Given the description of an element on the screen output the (x, y) to click on. 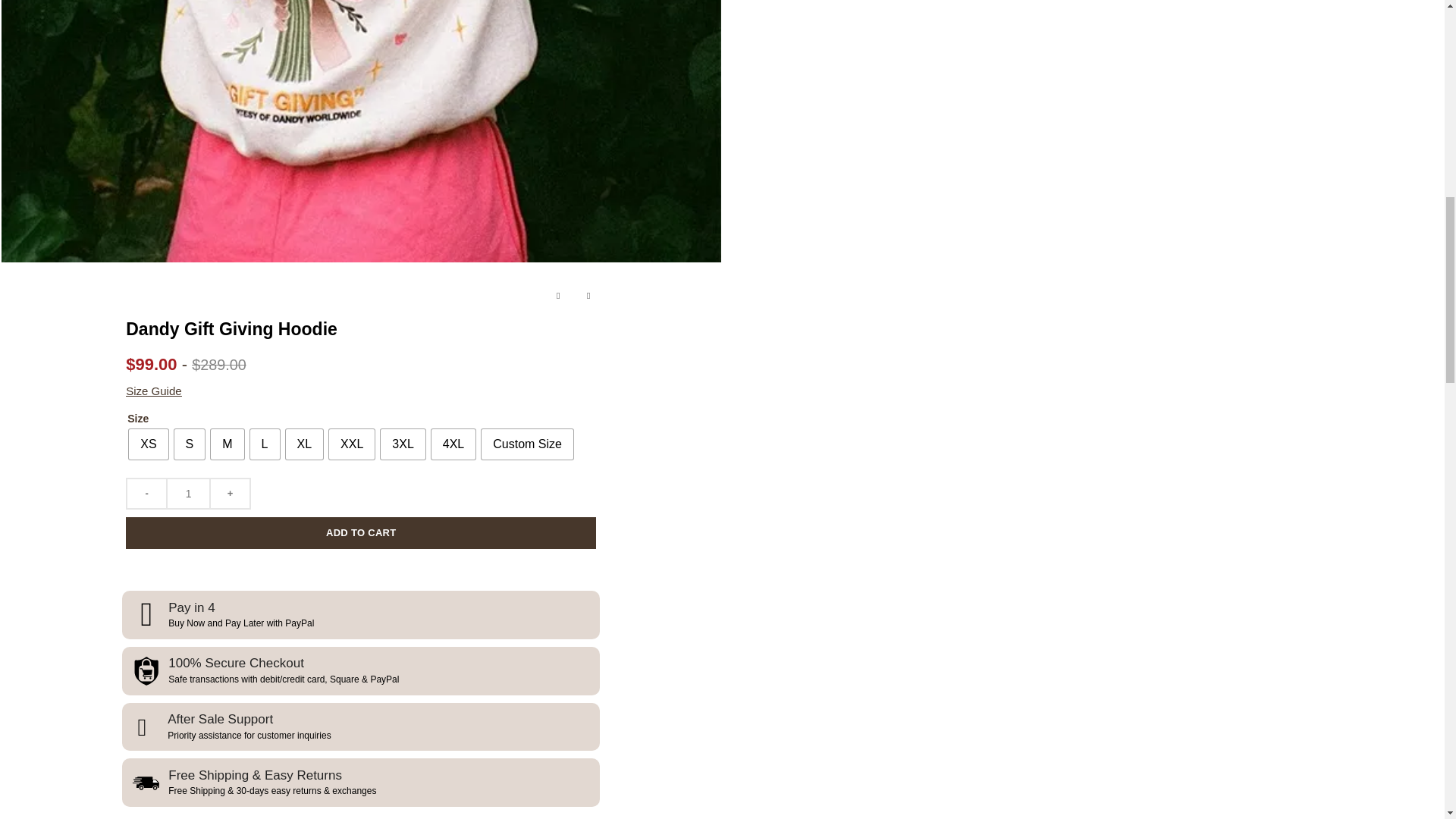
S (189, 444)
- (146, 493)
1 (188, 493)
XS (148, 444)
